Given the description of an element on the screen output the (x, y) to click on. 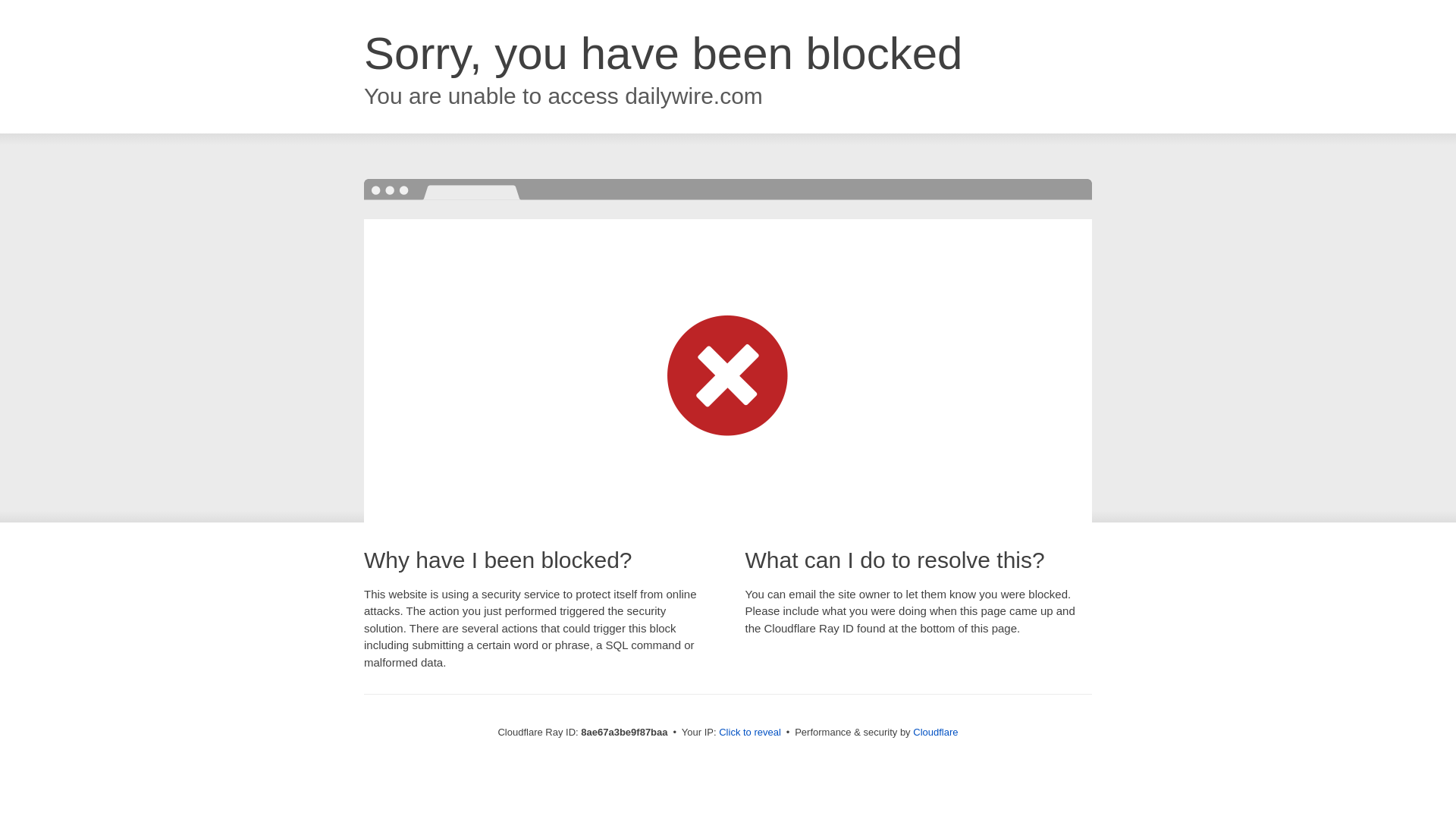
Cloudflare (935, 731)
Click to reveal (749, 732)
